Given the description of an element on the screen output the (x, y) to click on. 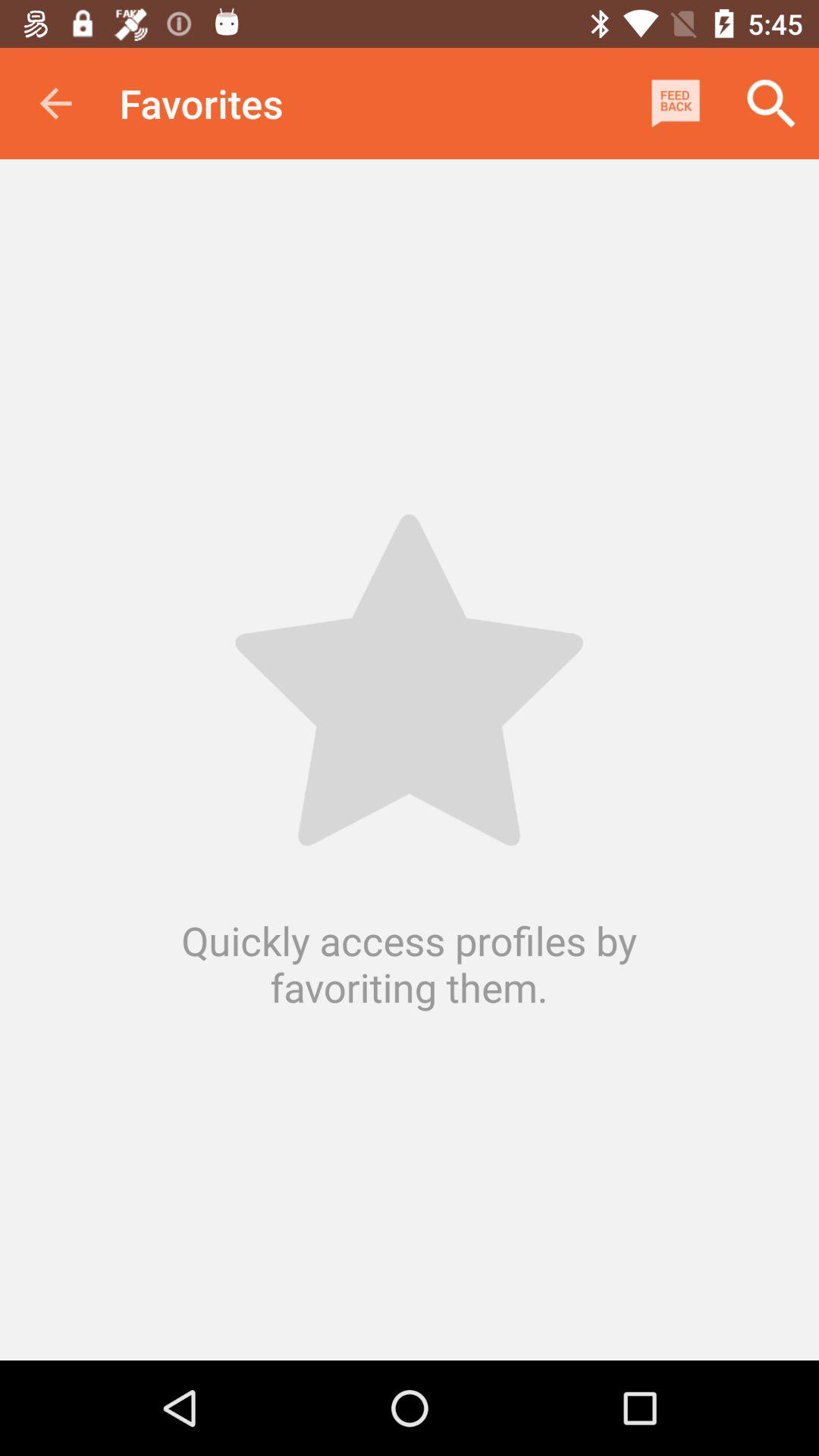
choose the item next to favorites icon (675, 103)
